Given the description of an element on the screen output the (x, y) to click on. 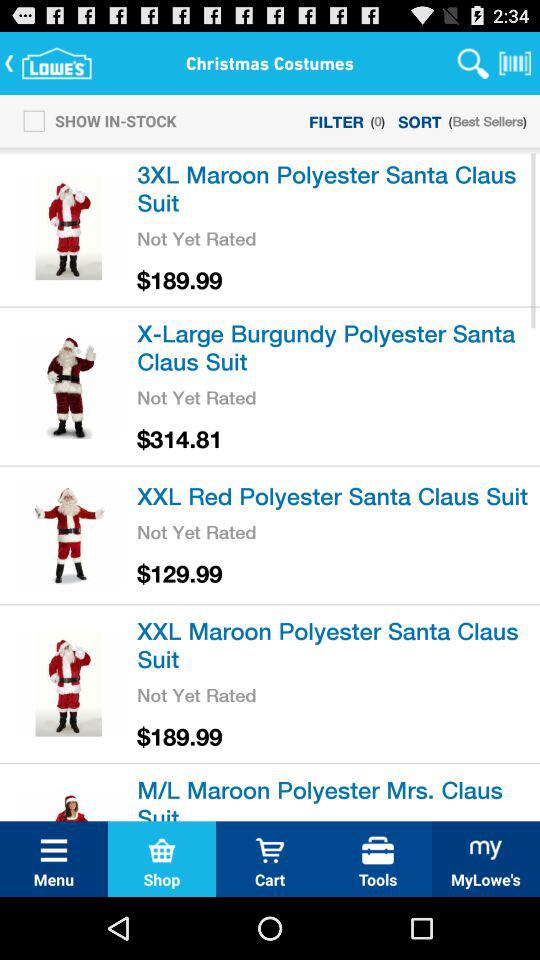
tap the item next to filter (94, 120)
